Given the description of an element on the screen output the (x, y) to click on. 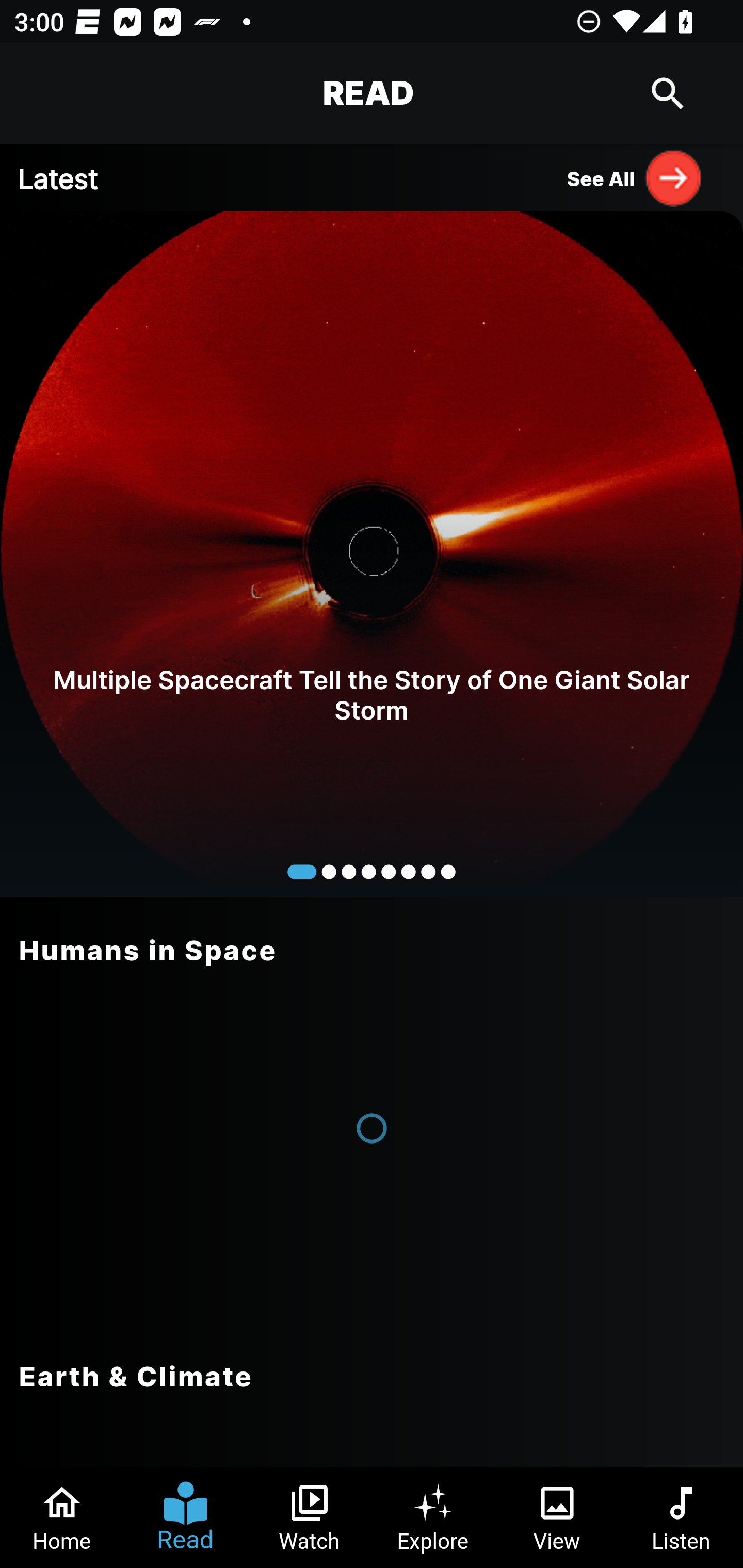
See All (634, 177)
Home
Tab 1 of 6 (62, 1517)
Read
Tab 2 of 6 (185, 1517)
Watch
Tab 3 of 6 (309, 1517)
Explore
Tab 4 of 6 (433, 1517)
View
Tab 5 of 6 (556, 1517)
Listen
Tab 6 of 6 (680, 1517)
